Given the description of an element on the screen output the (x, y) to click on. 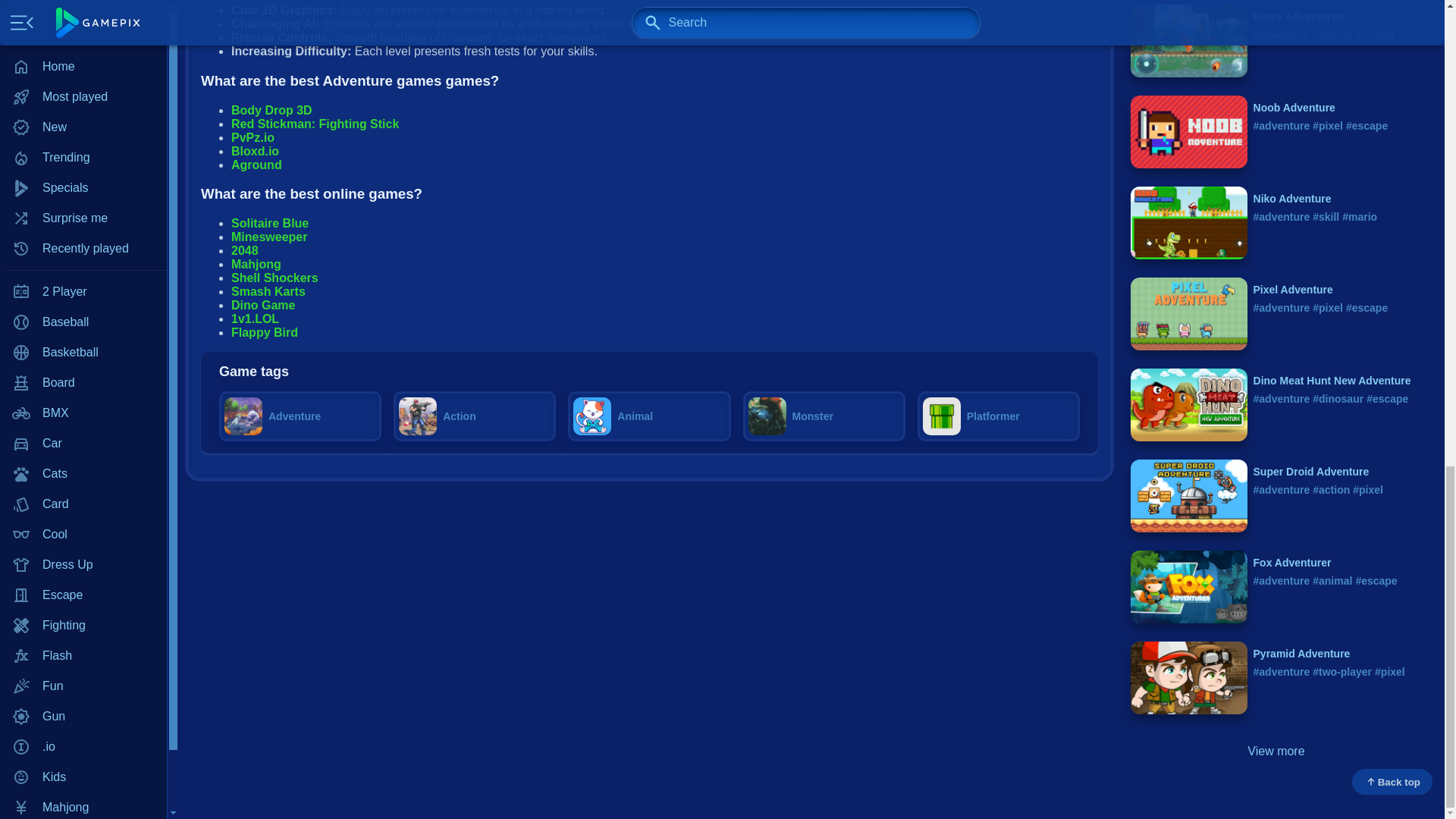
War (83, 49)
Word (83, 79)
Zombie (83, 110)
Snake (83, 2)
Soccer (83, 19)
